Given the description of an element on the screen output the (x, y) to click on. 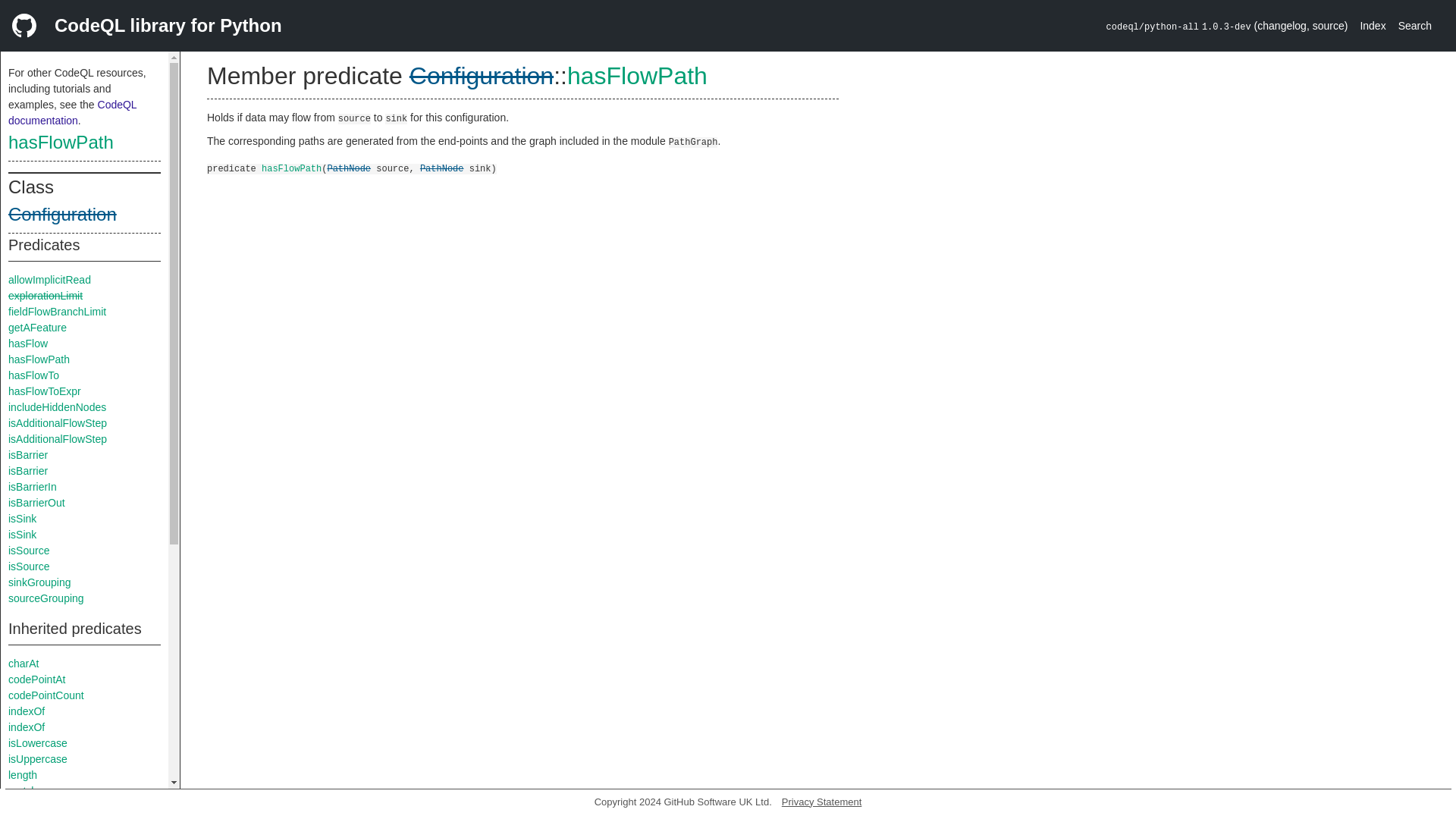
hasFlowPath (60, 141)
indexOf (26, 727)
hasFlowToExpr (44, 390)
Configuration (62, 213)
isSource (28, 566)
isSink (22, 534)
Changelog (1281, 25)
isBarrierIn (32, 486)
getAFeature (37, 327)
Member predicate DataFlowImpl2::Configuration::isBarrier (28, 454)
Member predicate DataFlowImpl2::Configuration::hasFlow (28, 343)
isBarrierOut (36, 502)
